Given the description of an element on the screen output the (x, y) to click on. 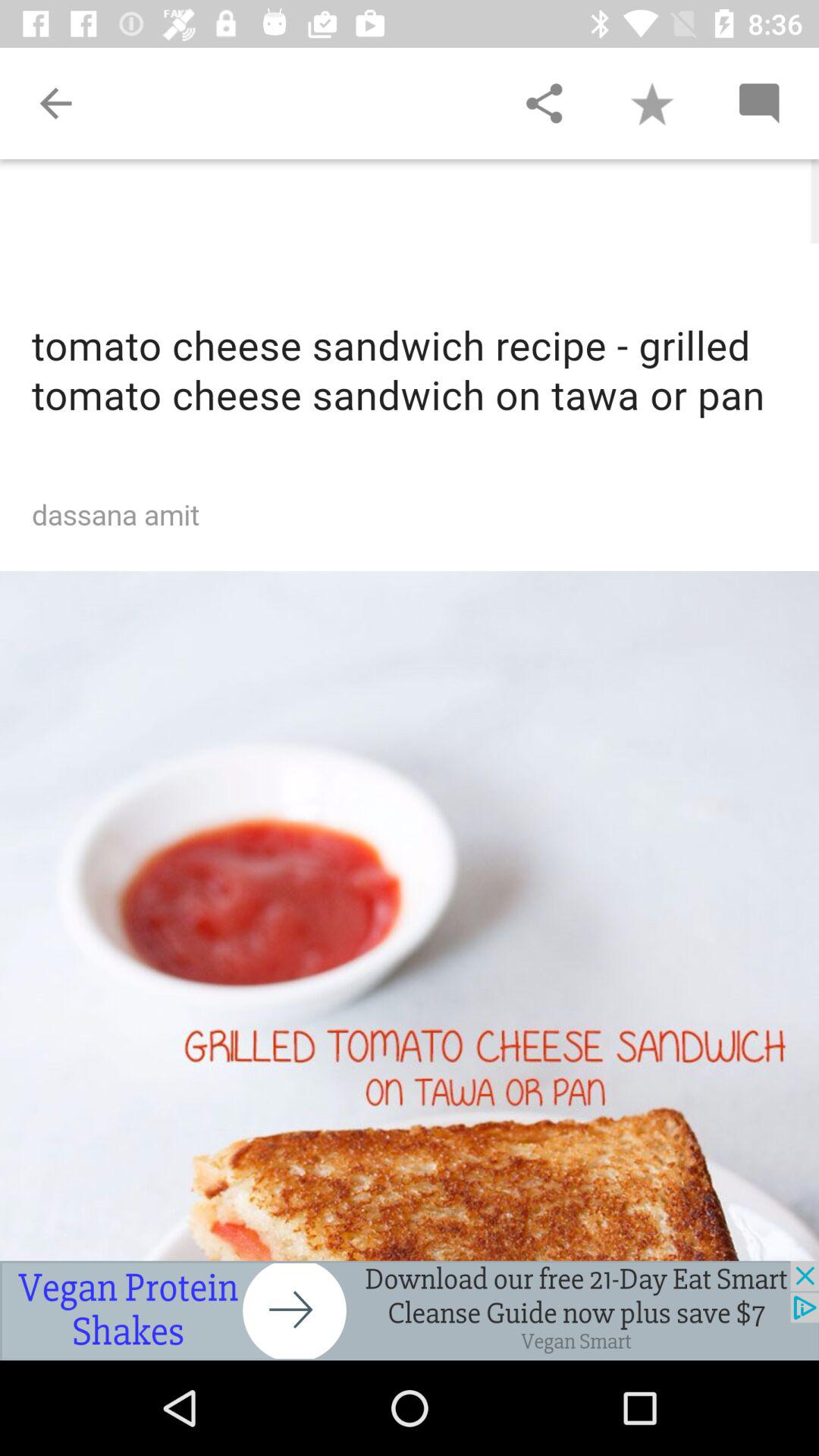
select the advertisement (409, 1310)
